Given the description of an element on the screen output the (x, y) to click on. 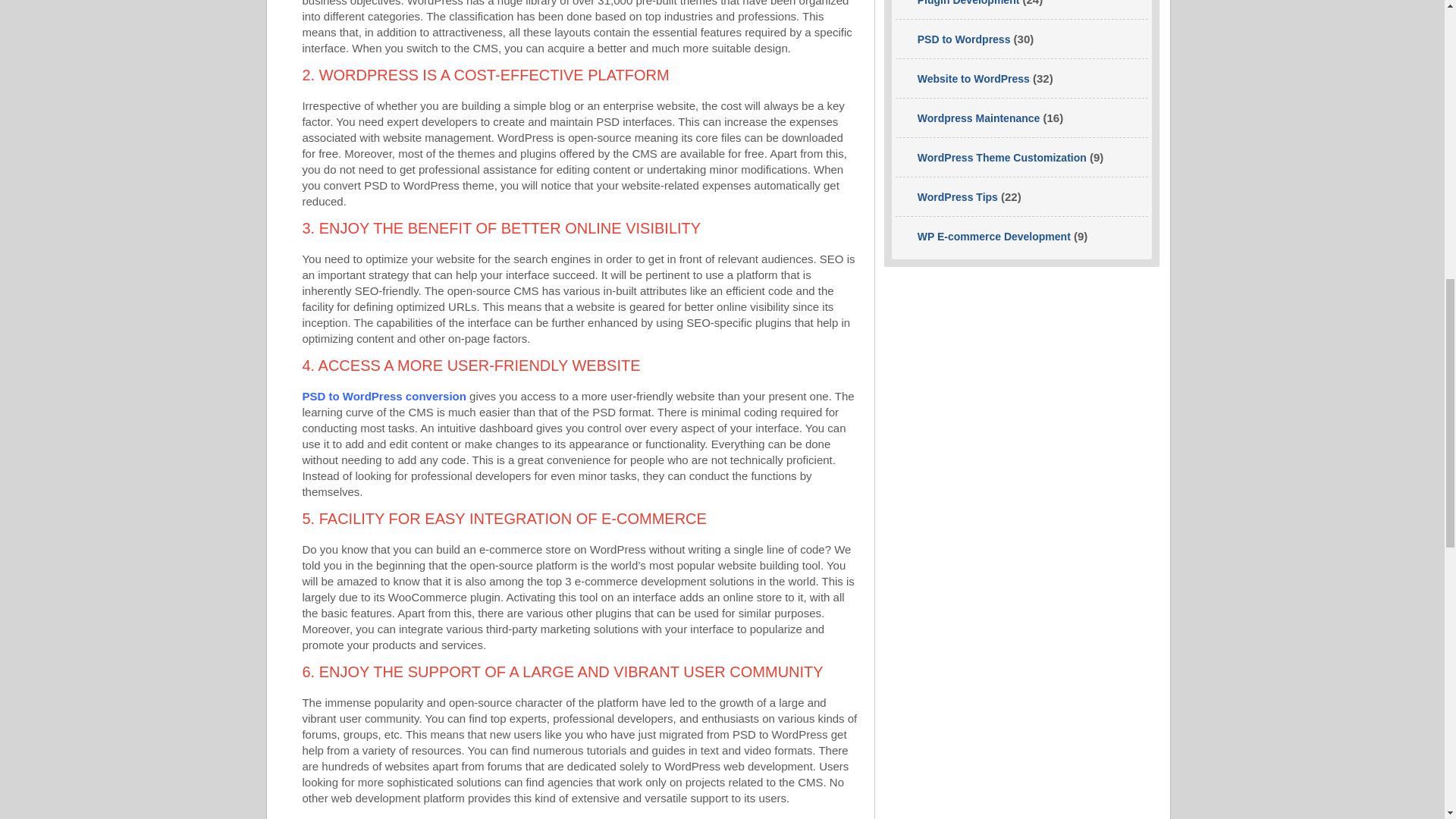
PSD to WordPress conversion (383, 395)
